Given the description of an element on the screen output the (x, y) to click on. 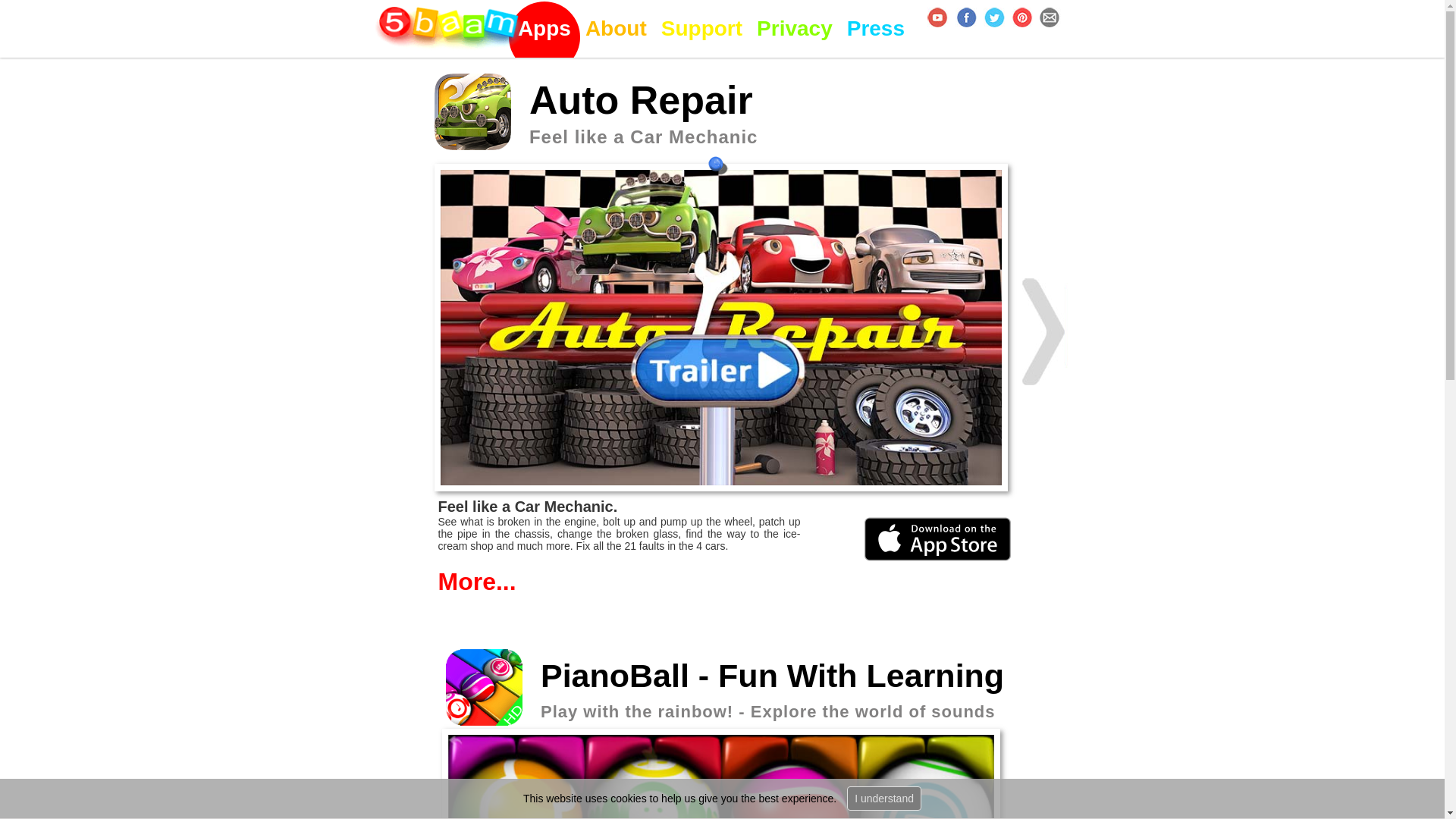
More... (595, 145)
About (754, 582)
Privacy (614, 28)
Support (794, 28)
Don't show this message again (701, 28)
Apps (884, 798)
Press (543, 28)
